Given the description of an element on the screen output the (x, y) to click on. 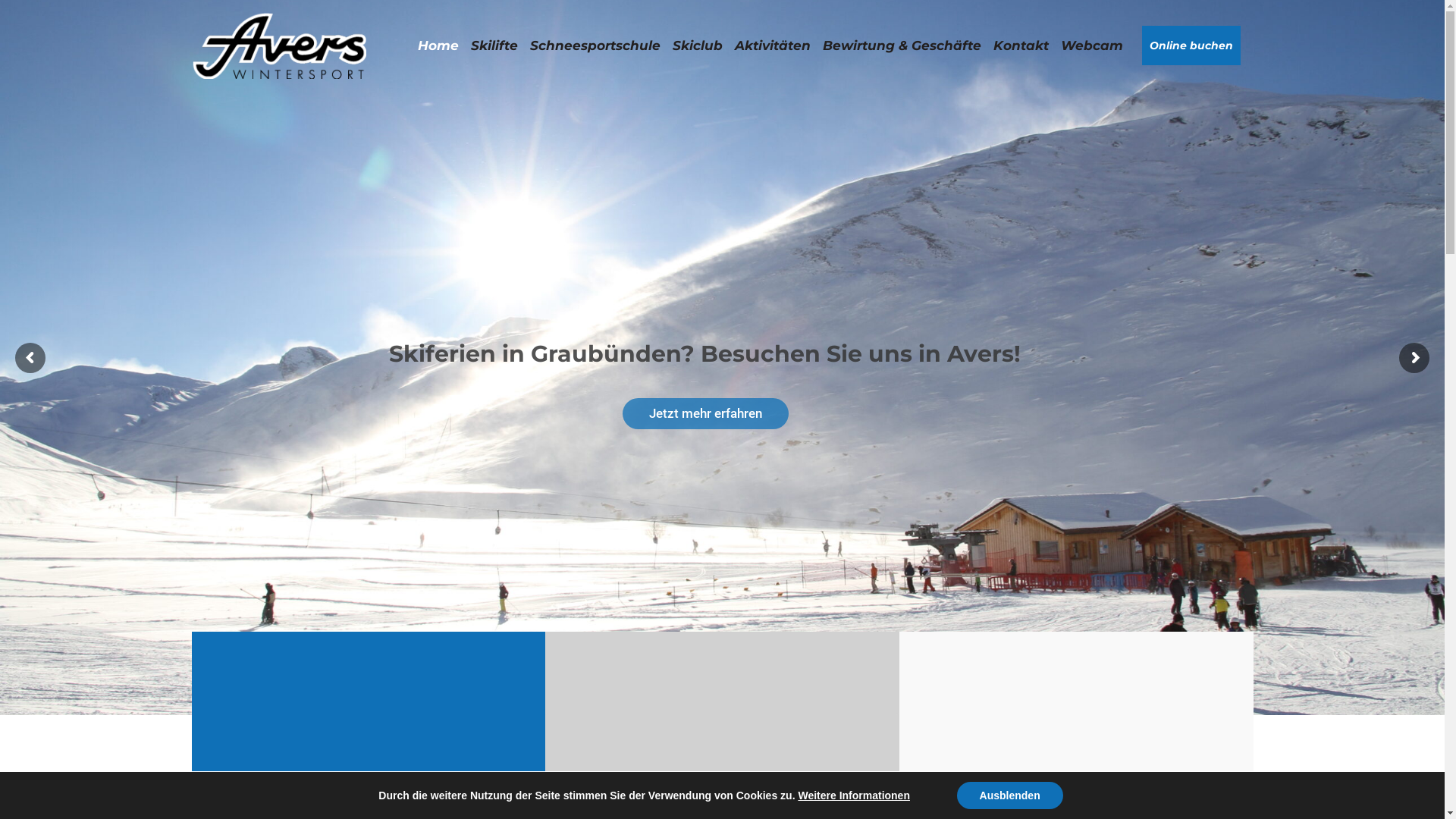
Online buchen Element type: text (1191, 45)
Ausblenden Element type: text (1010, 795)
Home Element type: text (437, 45)
Skilifte Element type: text (493, 45)
Skiclub Element type: text (696, 45)
Weitere Informationen Element type: text (853, 795)
Kontakt Element type: text (1020, 45)
Webcam Element type: text (1091, 45)
Schneesportschule Element type: text (594, 45)
